Given the description of an element on the screen output the (x, y) to click on. 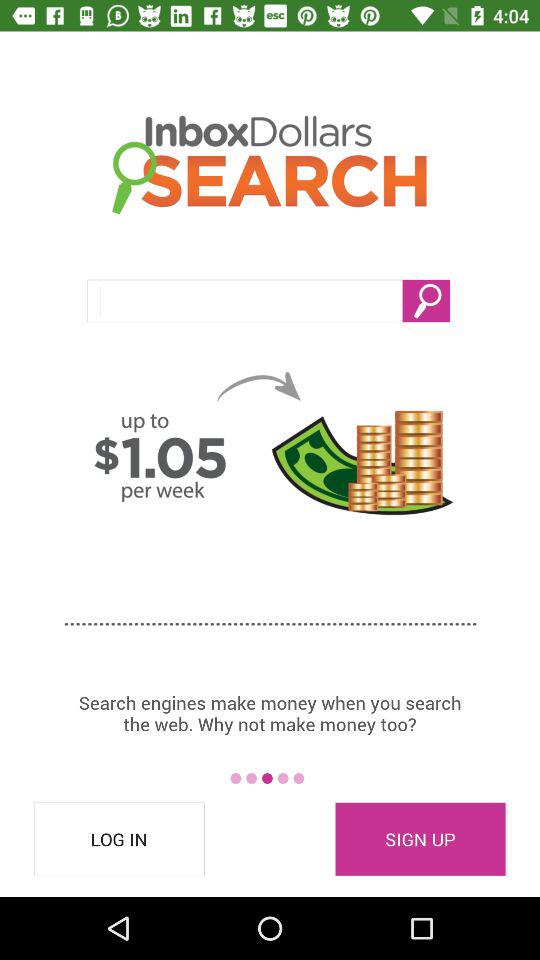
click item to the right of log in item (420, 839)
